Given the description of an element on the screen output the (x, y) to click on. 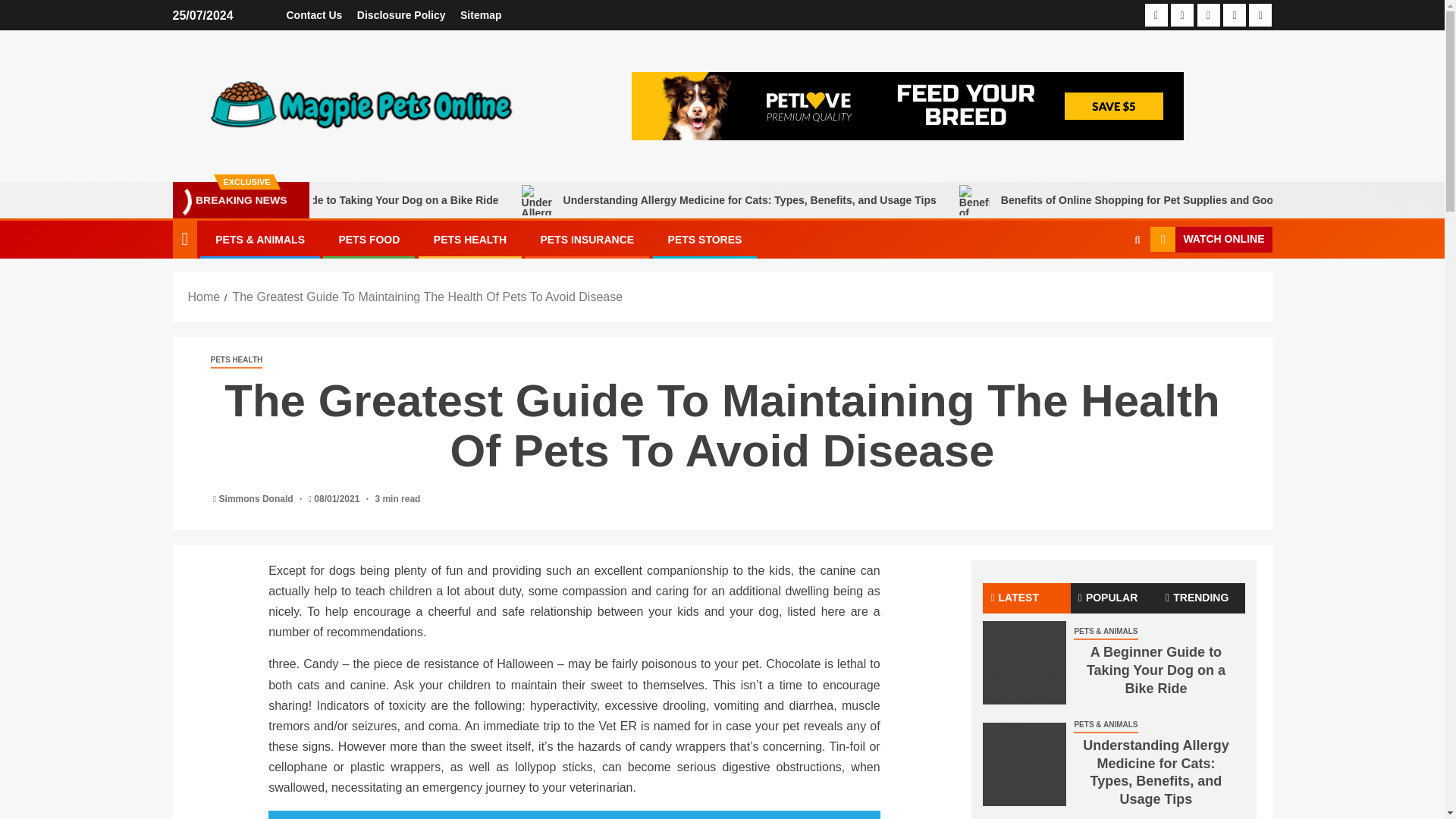
Disclosure Policy (400, 15)
PETS HEALTH (237, 360)
A Beginner Guide to Taking Your Dog on a Bike Ride (1023, 662)
PETS HEALTH (469, 239)
Benefits of Online Shopping for Pet Supplies and Goods (1235, 200)
Home (204, 296)
Simmons Donald (257, 498)
WATCH ONLINE (1210, 239)
Search (1107, 285)
PETS INSURANCE (586, 239)
Contact Us (314, 15)
PETS FOOD (367, 239)
